Given the description of an element on the screen output the (x, y) to click on. 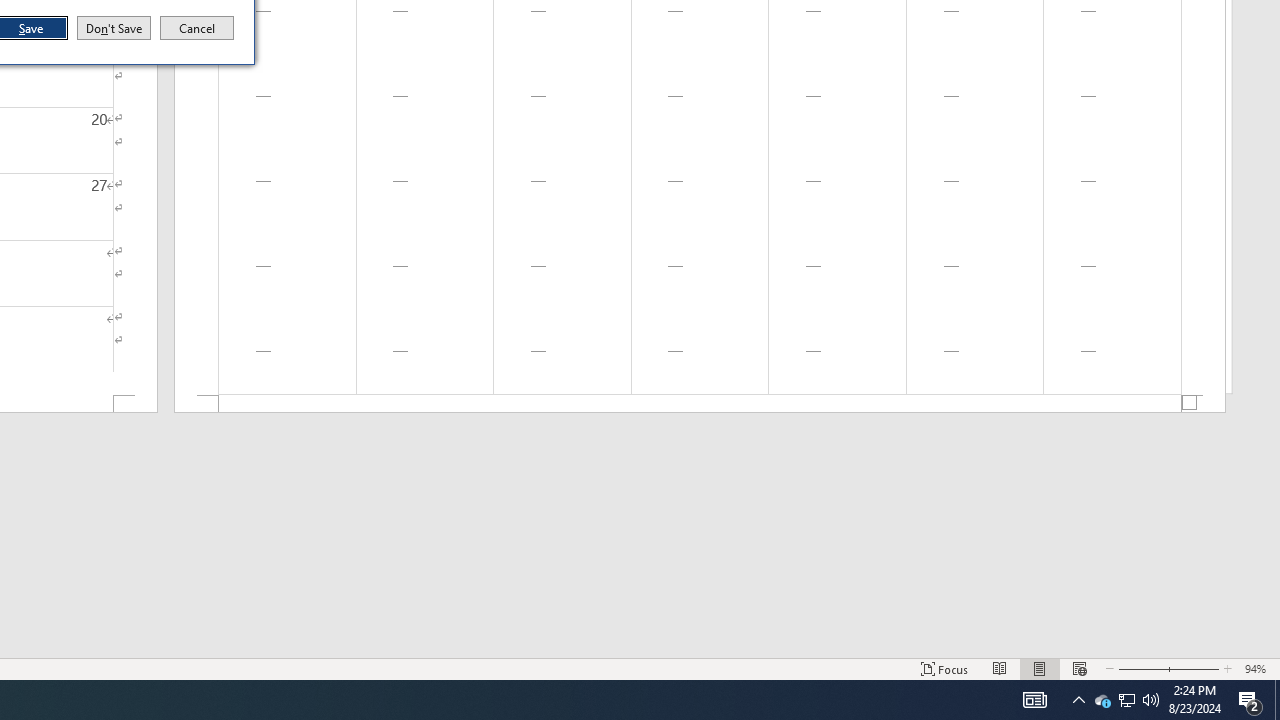
Q2790: 100% (1151, 699)
Footer -Section 1- (700, 404)
Cancel (197, 27)
Notification Chevron (1102, 699)
